Given the description of an element on the screen output the (x, y) to click on. 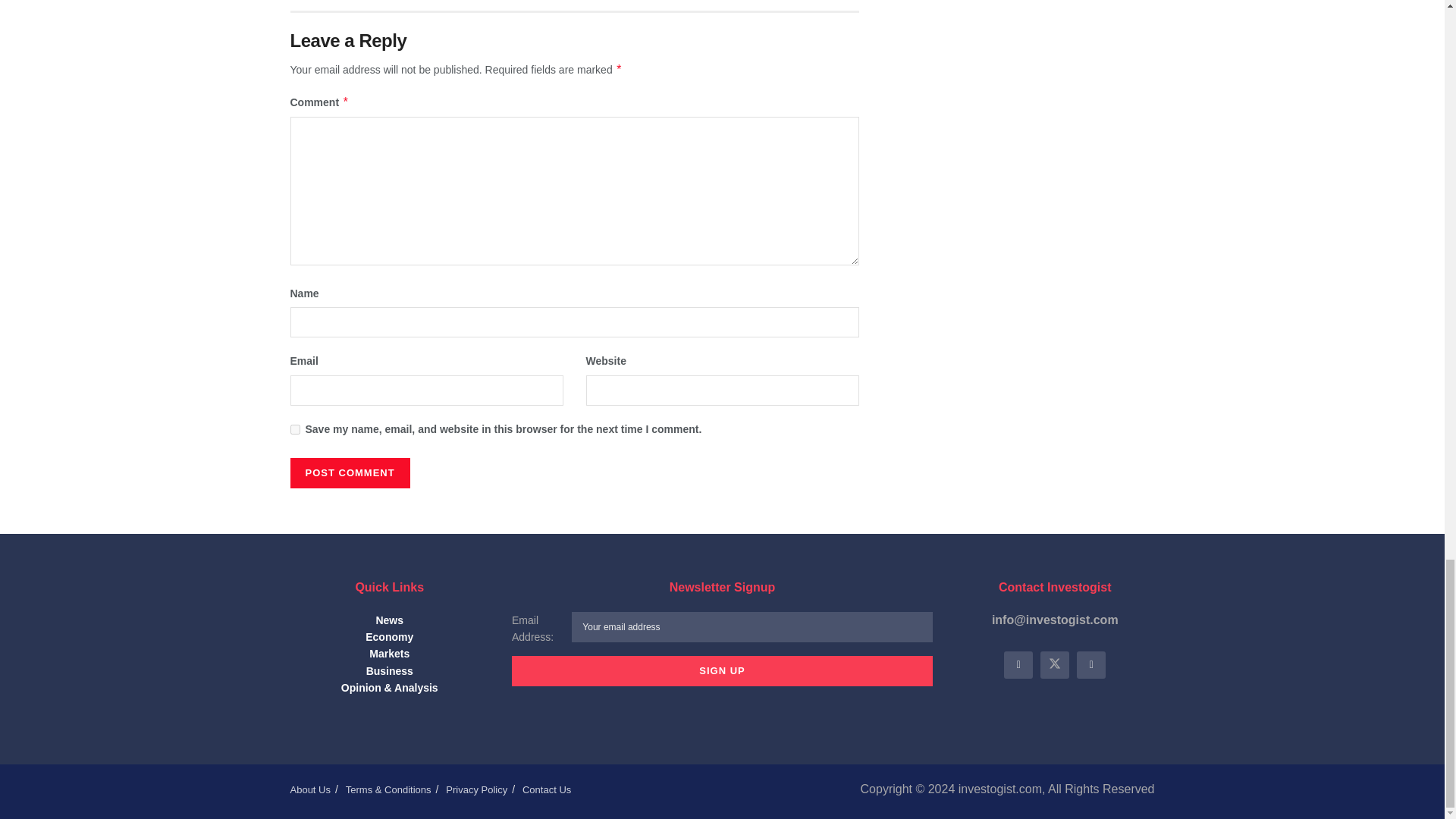
yes (294, 429)
Sign up (722, 671)
Post Comment (349, 472)
